Given the description of an element on the screen output the (x, y) to click on. 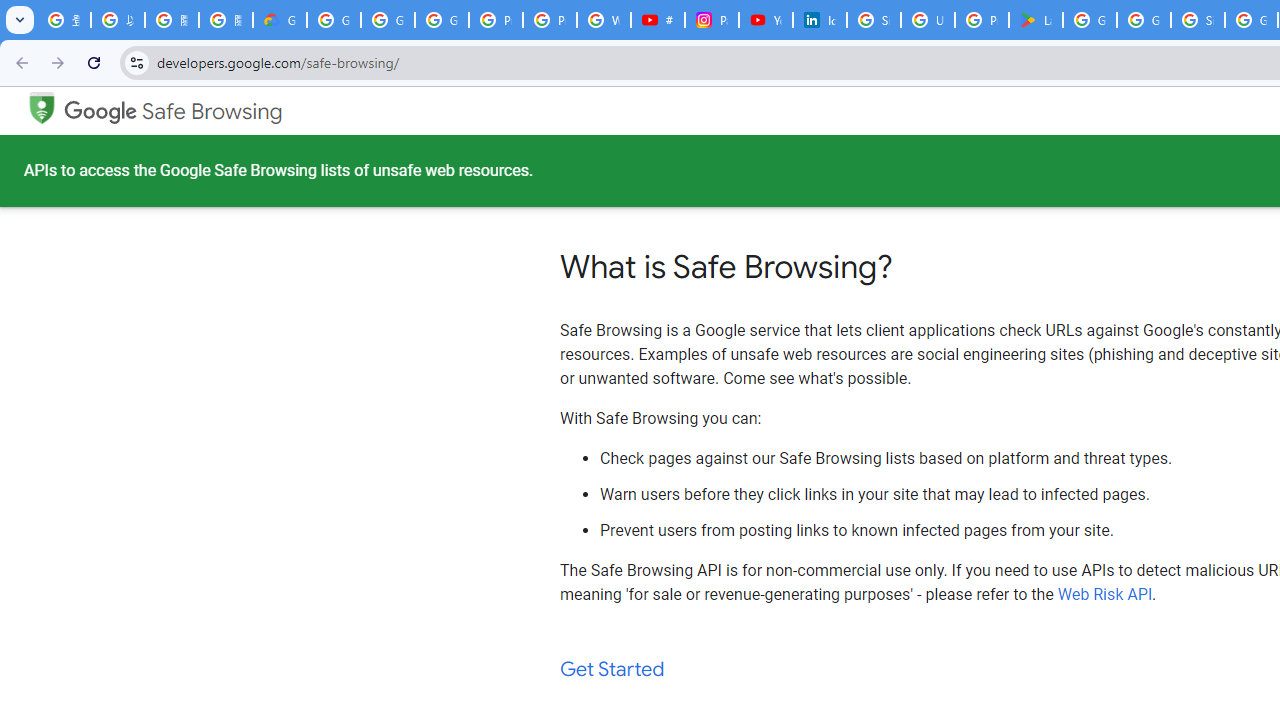
Google Safe Browsing (41, 106)
Sign in - Google Accounts (874, 20)
Last Shelter: Survival - Apps on Google Play (1035, 20)
